Given the description of an element on the screen output the (x, y) to click on. 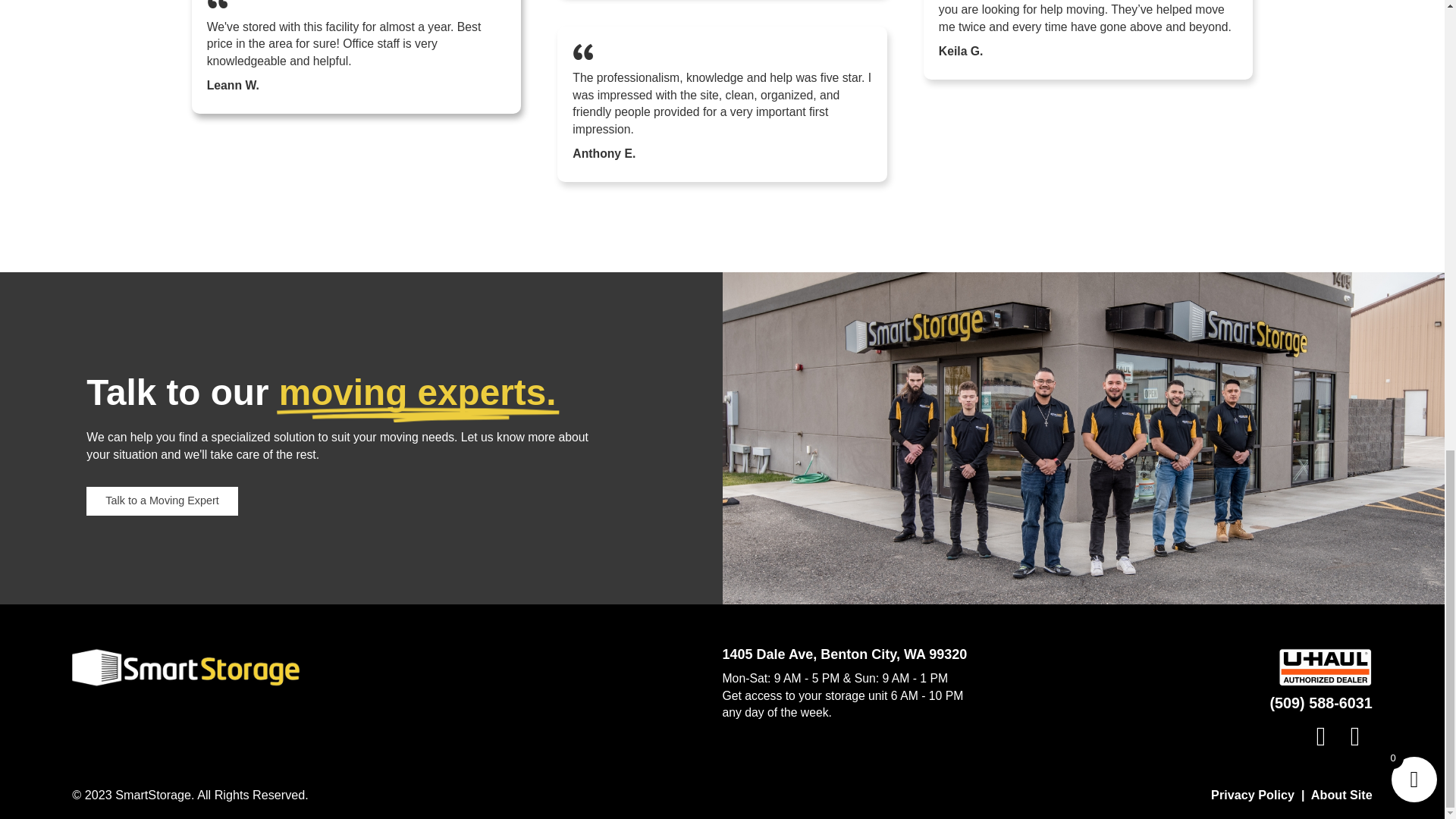
Instagram (1355, 736)
Facebook (1321, 736)
Slim Smart Storage Logo (185, 667)
U-Haul-Authorized-Dealer (1325, 667)
